Given the description of an element on the screen output the (x, y) to click on. 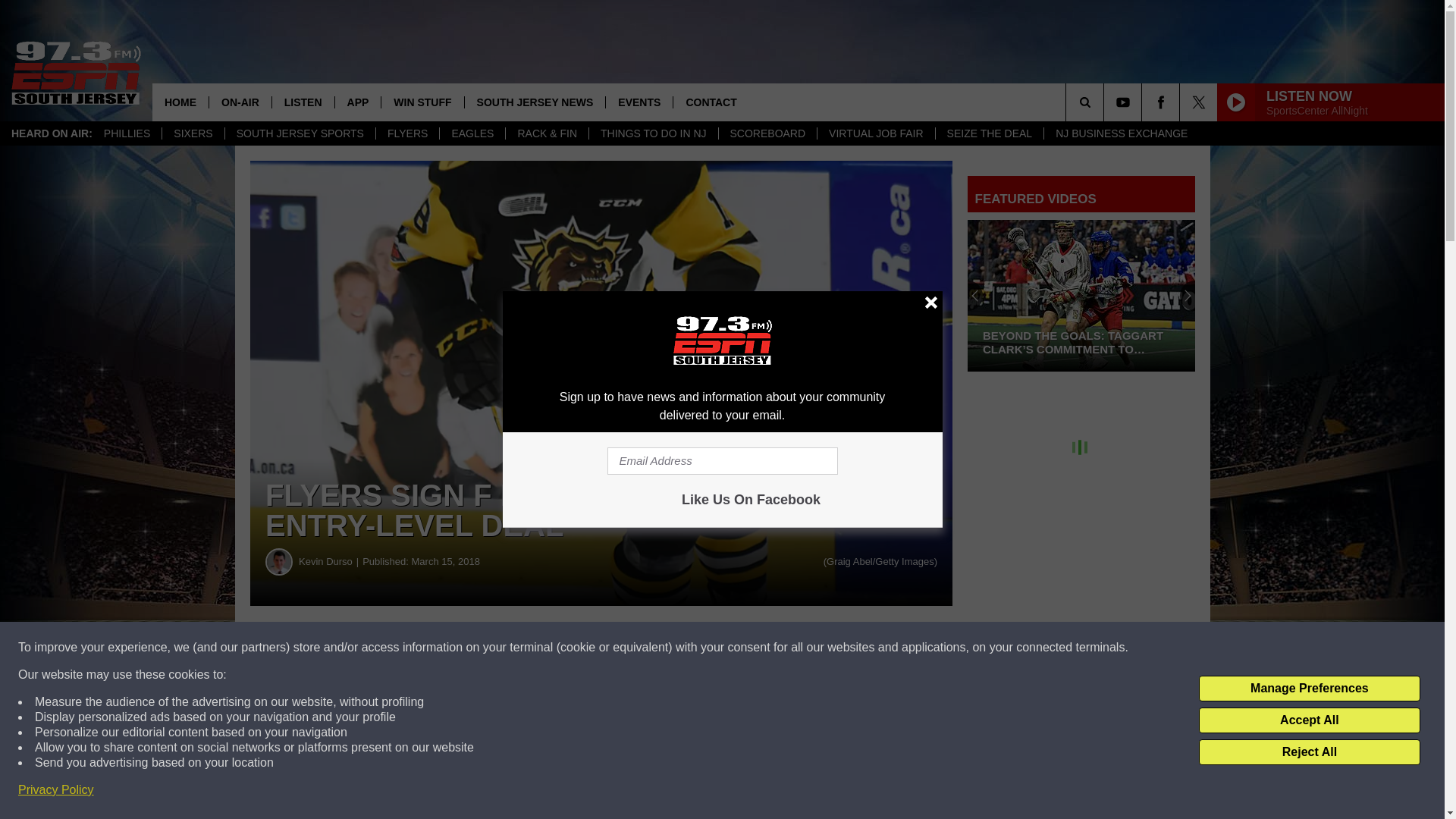
EAGLES (472, 133)
FLYERS (407, 133)
THINGS TO DO IN NJ (652, 133)
APP (357, 102)
VIRTUAL JOB FAIR (875, 133)
SIXERS (192, 133)
Reject All (1309, 751)
Share on Twitter (741, 647)
SEARCH (1106, 102)
Share on Facebook (460, 647)
ON-AIR (239, 102)
Email Address (722, 461)
HOME (180, 102)
SEARCH (1106, 102)
Manage Preferences (1309, 688)
